Given the description of an element on the screen output the (x, y) to click on. 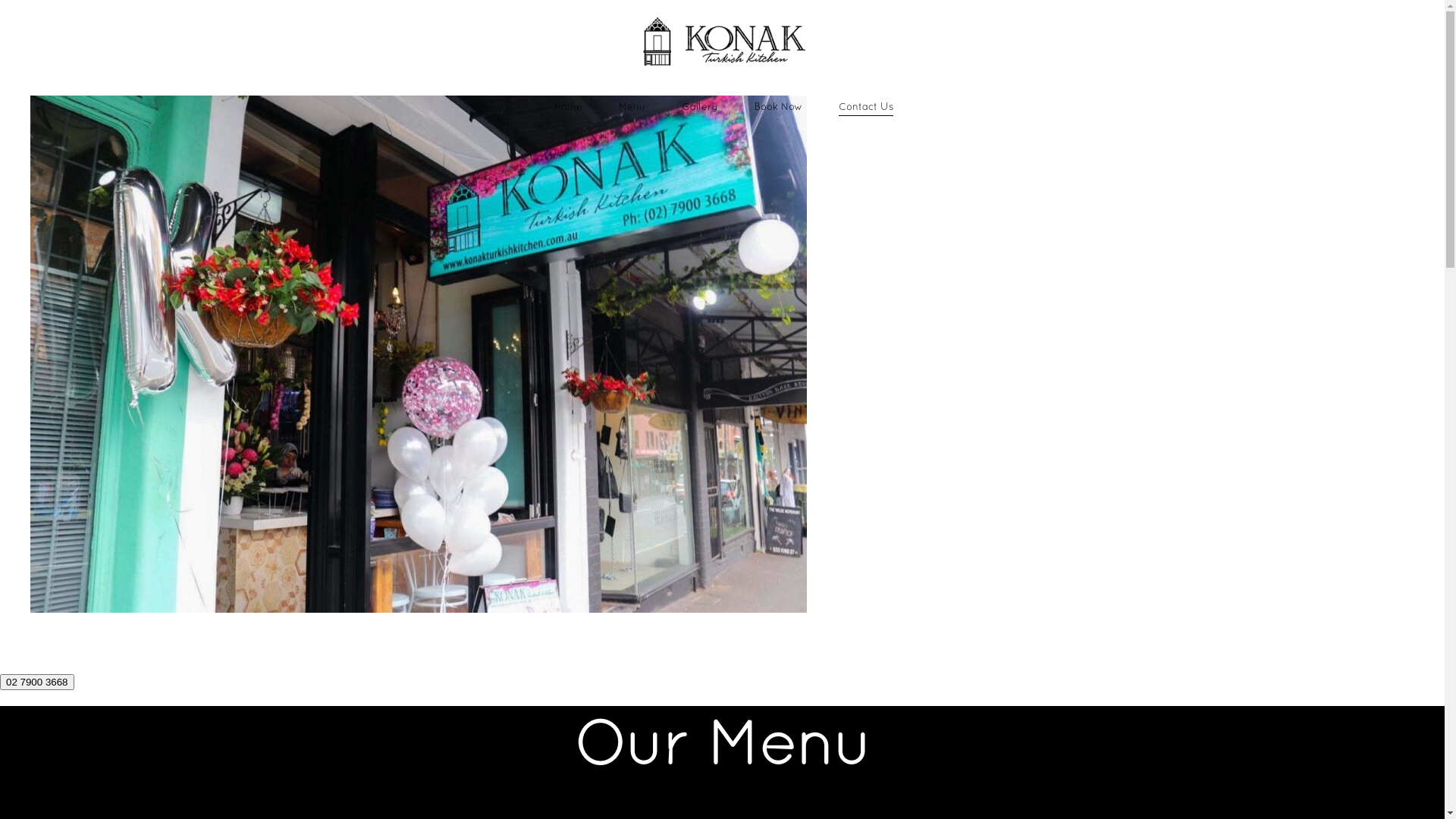
Menu Element type: text (631, 105)
Book Now Element type: text (778, 105)
Home Element type: text (568, 105)
Contact Us Element type: text (865, 105)
Gallery Element type: text (699, 105)
02 7900 3668 Element type: text (37, 682)
